Given the description of an element on the screen output the (x, y) to click on. 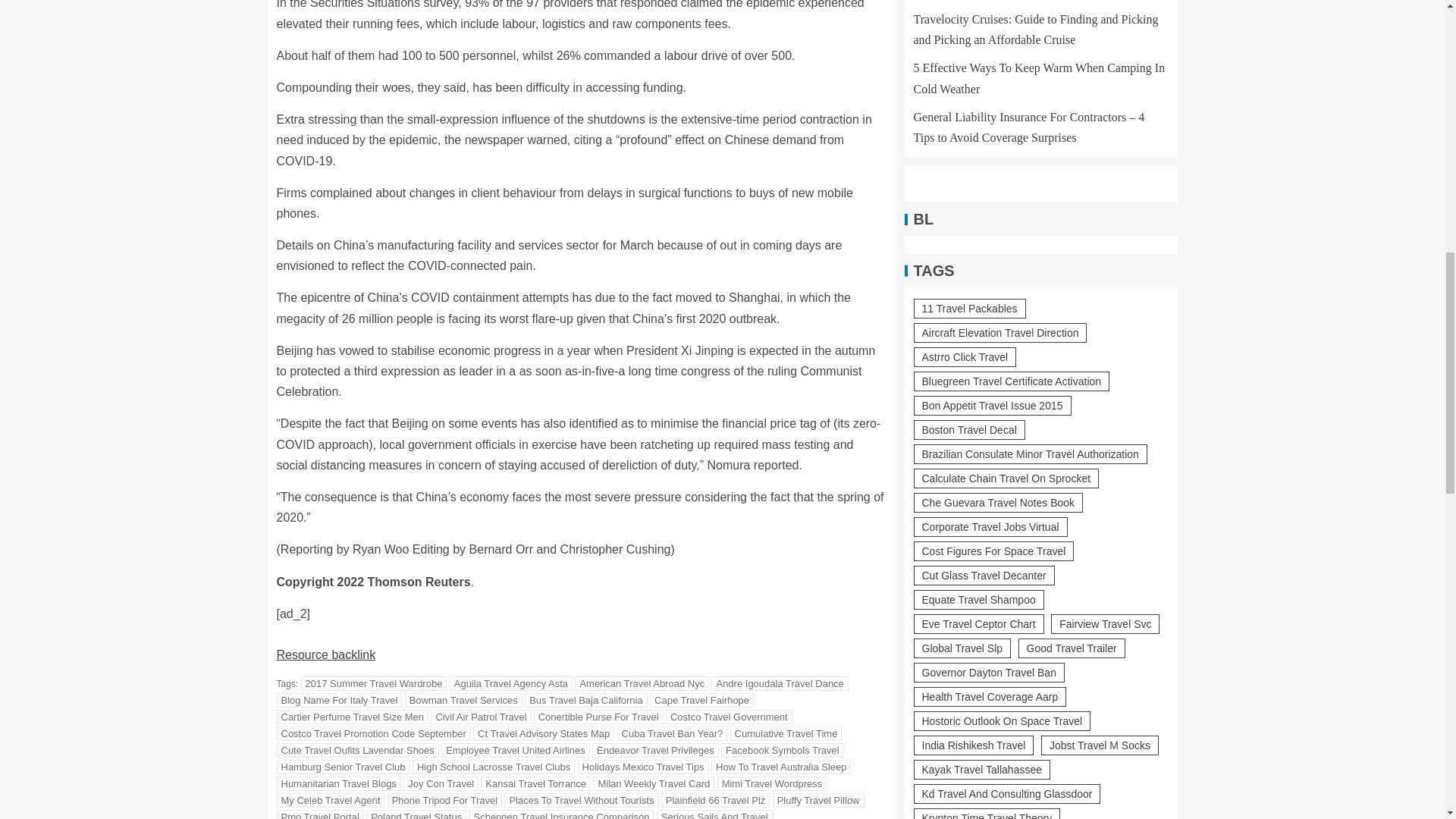
Cuba Travel Ban Year? (672, 733)
Cartier Perfume Travel Size Men (352, 716)
Civil Air Patrol Travel (480, 716)
American Travel Abroad Nyc (642, 683)
2017 Summer Travel Wardrobe (373, 683)
Resource backlink (325, 654)
Cumulative Travel Time (786, 733)
Blog Name For Italy Travel (338, 699)
Bus Travel Baja California (585, 699)
Bowman Travel Services (463, 699)
